Given the description of an element on the screen output the (x, y) to click on. 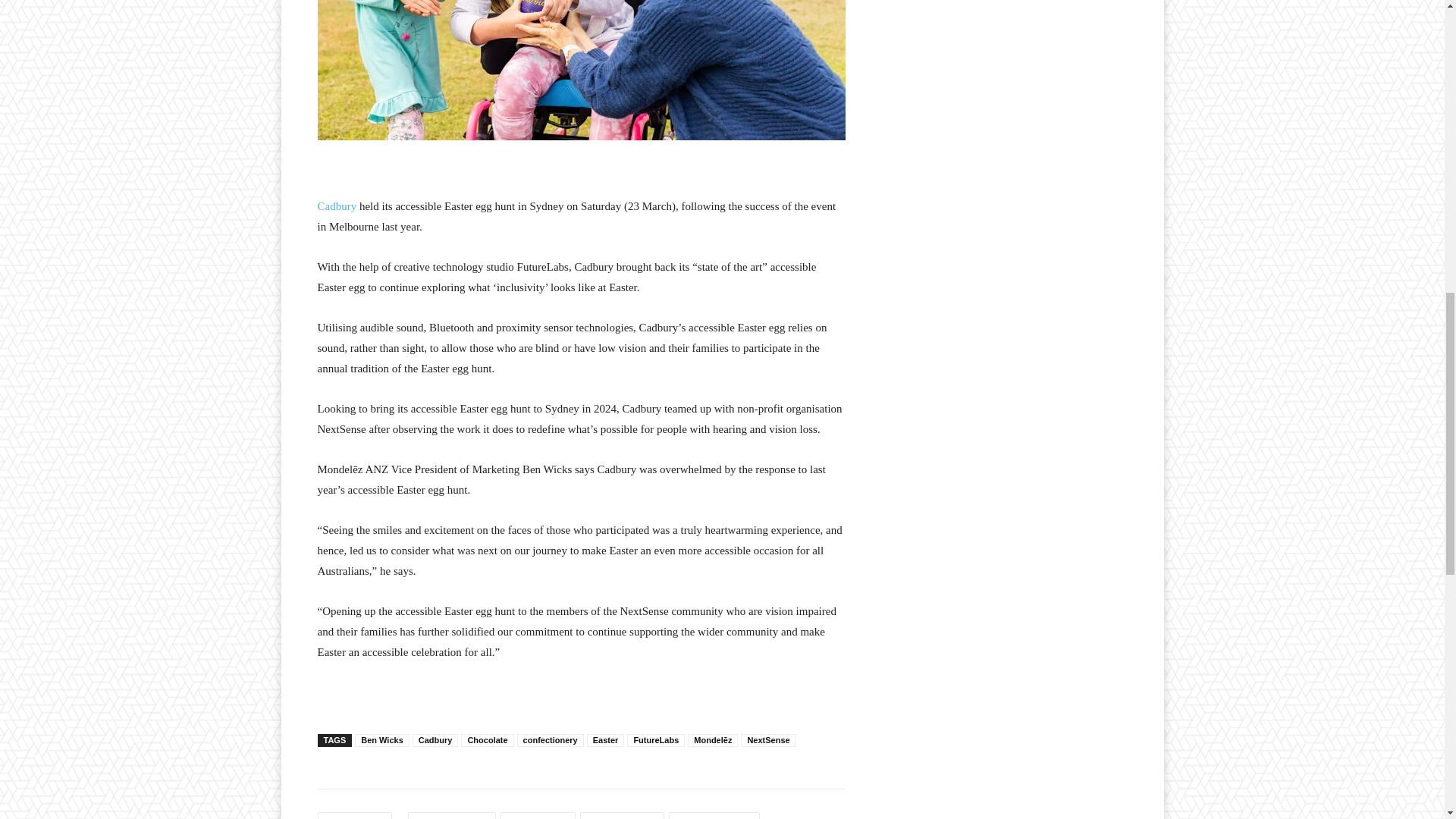
Twitter (537, 815)
CADBURY 2-84 (580, 70)
Facebook (451, 815)
